Given the description of an element on the screen output the (x, y) to click on. 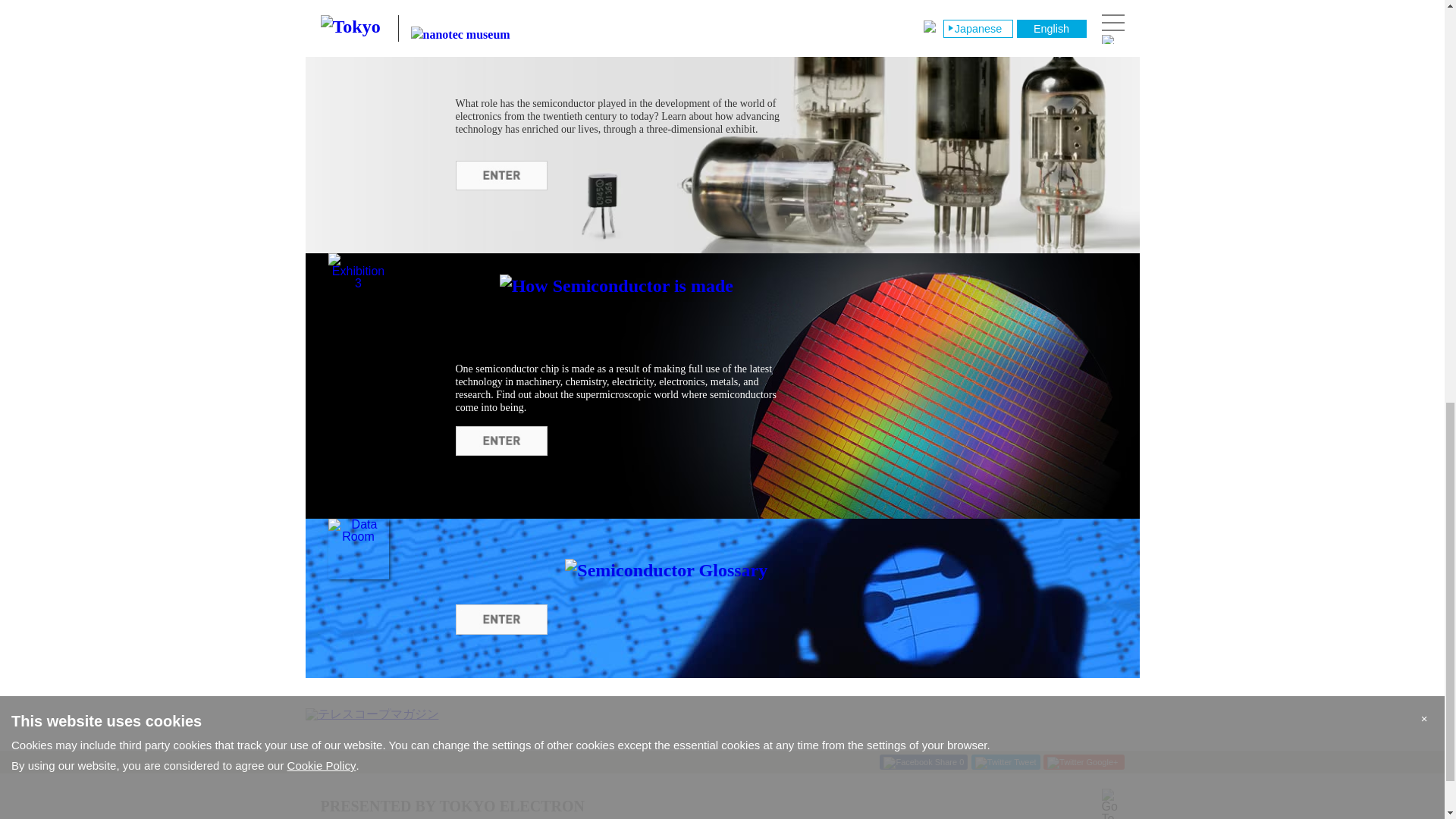
Tweet (1005, 763)
Share (919, 763)
